Given the description of an element on the screen output the (x, y) to click on. 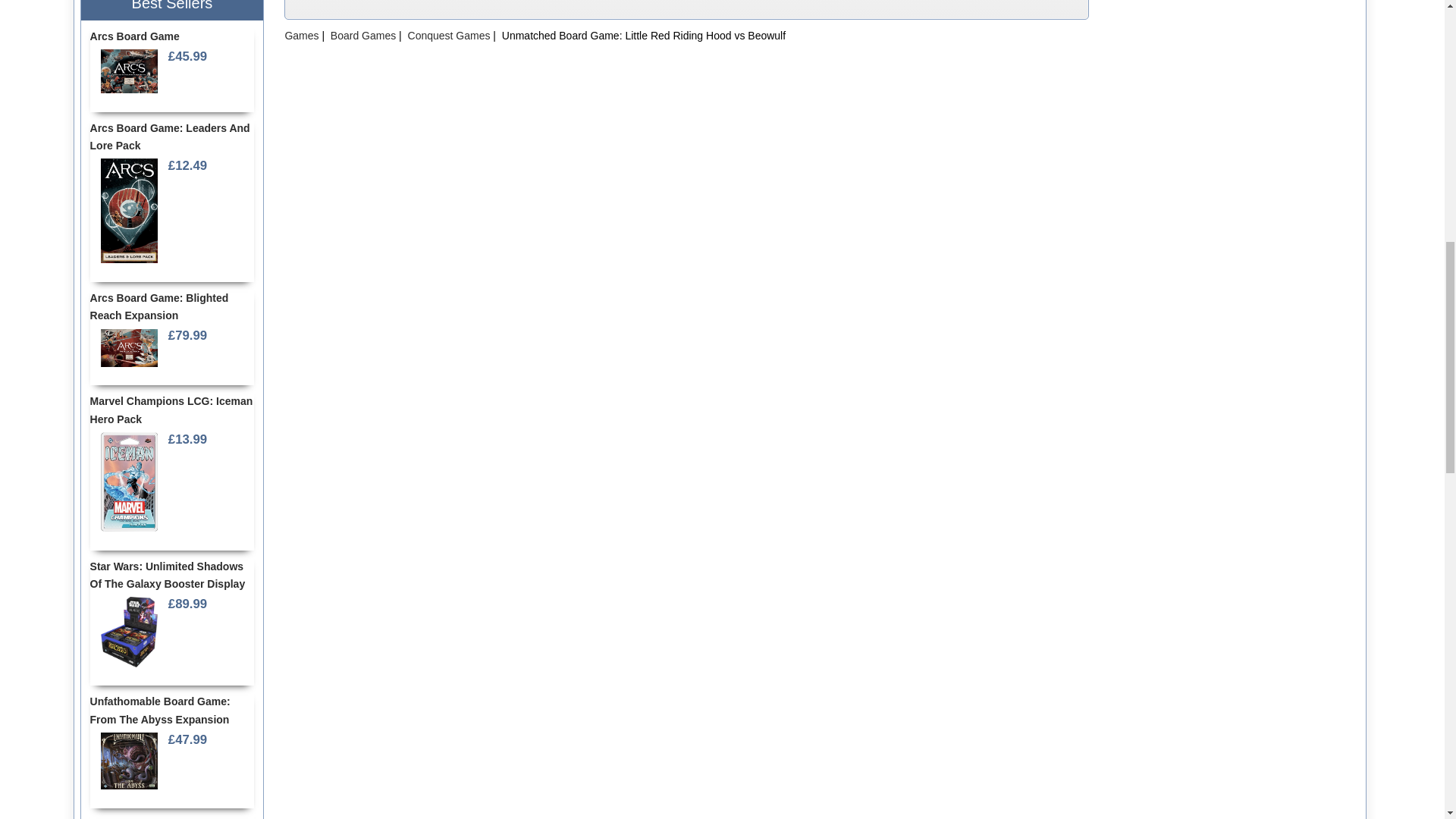
Arcs Board Game: Blighted Reach Expansion (128, 347)
Arcs Board Game (128, 71)
Unfathomable Board Game: From The Abyss Expansion (128, 761)
